Given the description of an element on the screen output the (x, y) to click on. 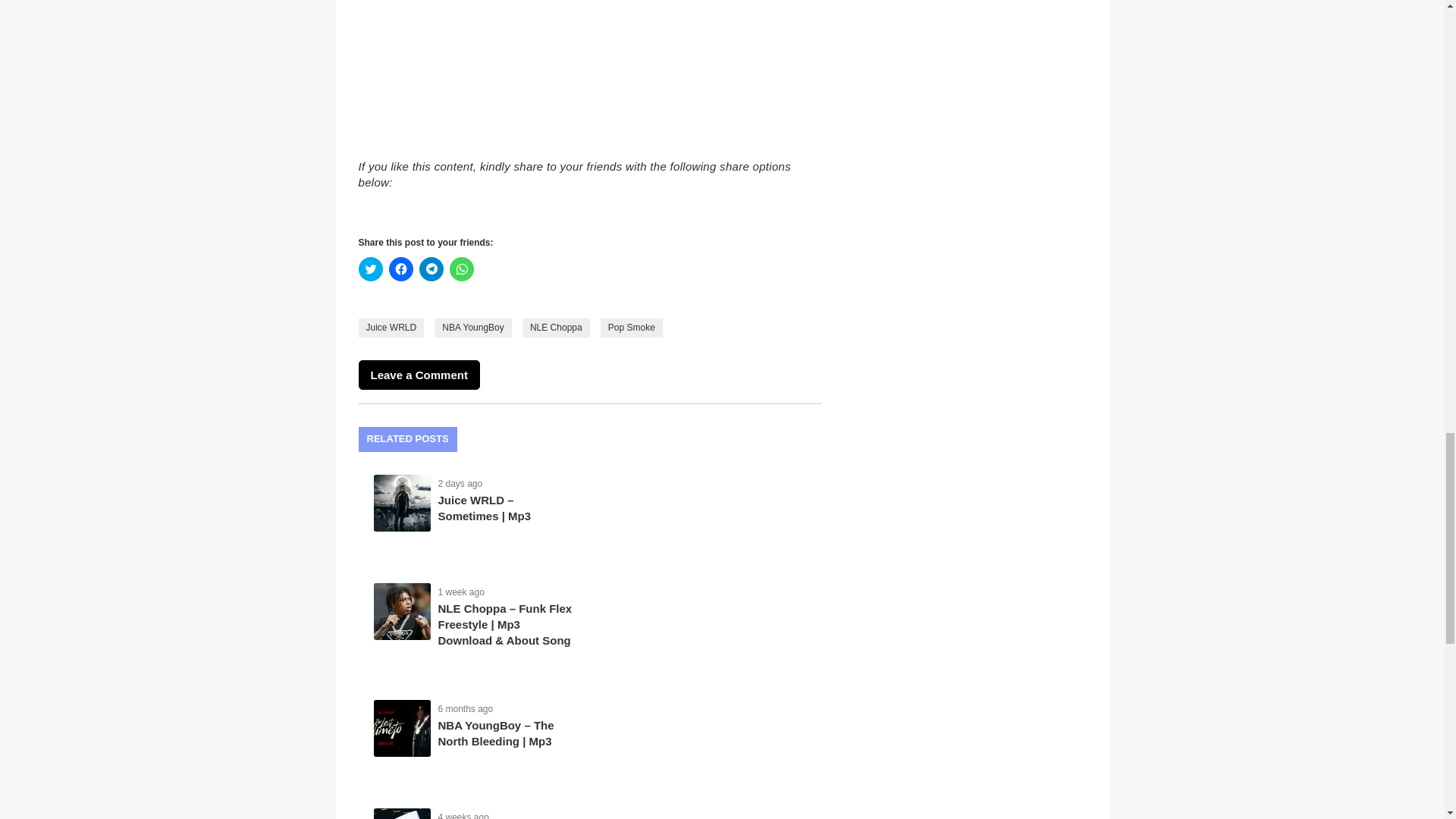
NBA YoungBoy (472, 327)
NLE Choppa (555, 327)
Click to share on Telegram (430, 269)
Juice WRLD (390, 327)
Click to share on Facebook (400, 269)
Click to share on Twitter (369, 269)
Click to share on WhatsApp (460, 269)
Leave a Comment (418, 374)
Pop Smoke (630, 327)
